Given the description of an element on the screen output the (x, y) to click on. 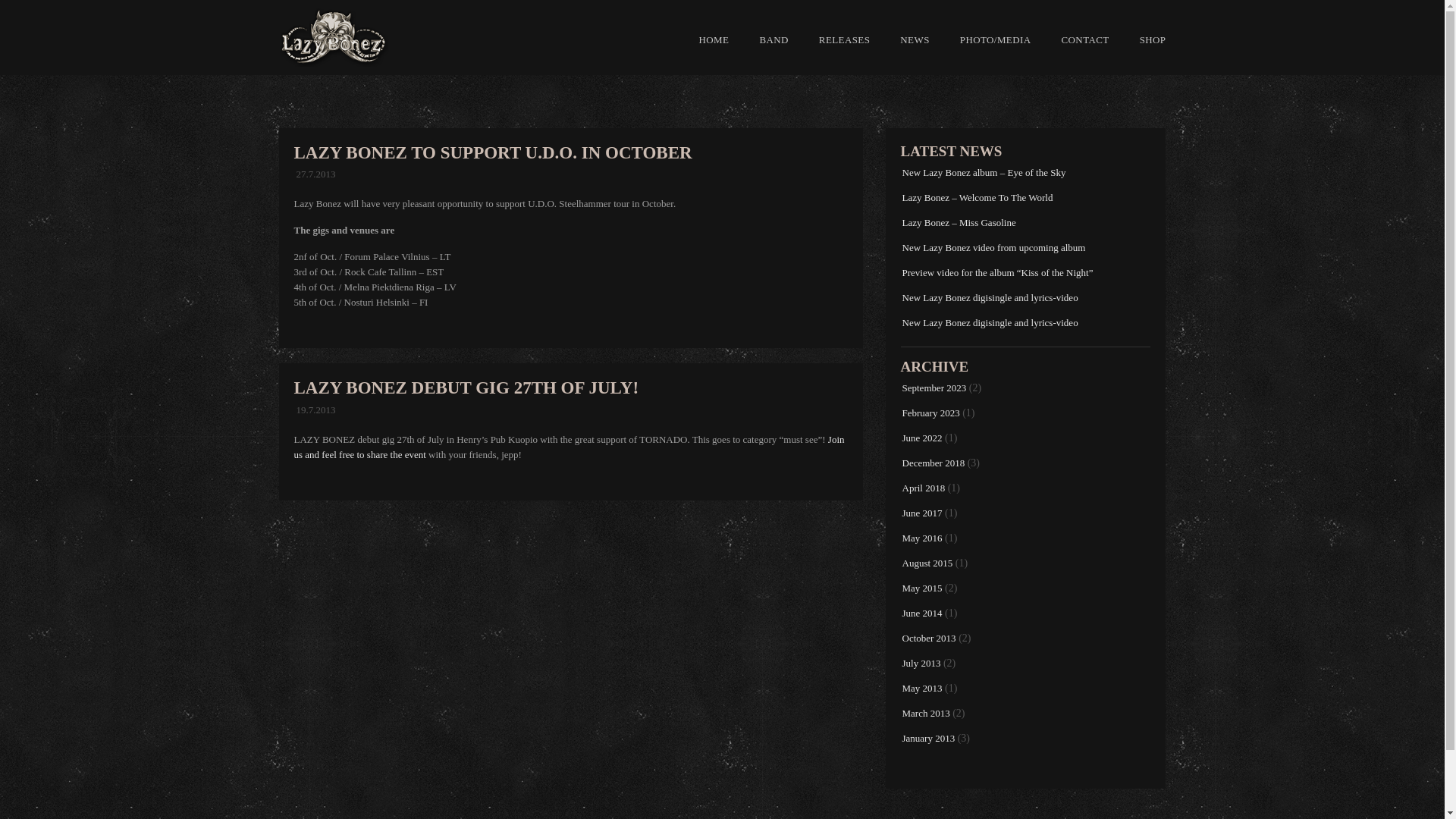
February 2023 (930, 412)
June 2014 (922, 613)
June 2022 (922, 437)
SHOP (1145, 39)
New Lazy Bonez video from upcoming album (994, 247)
April 2018 (923, 487)
October 2013 (929, 637)
HOME (714, 39)
June 2017 (922, 512)
CONTACT (1084, 39)
